Given the description of an element on the screen output the (x, y) to click on. 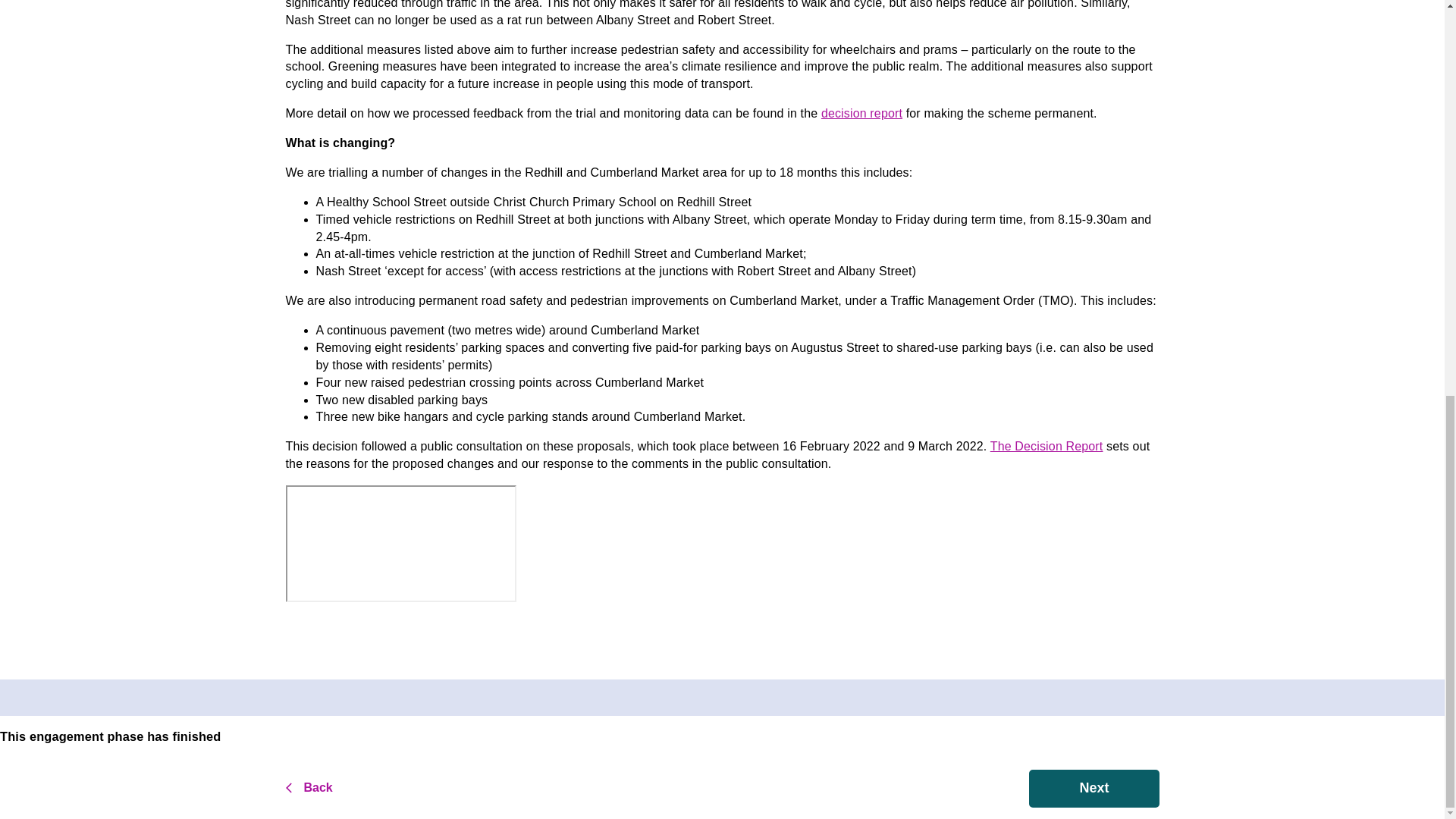
Next (1093, 788)
The Decision Report (1046, 445)
Back (348, 788)
decision report (861, 113)
